Given the description of an element on the screen output the (x, y) to click on. 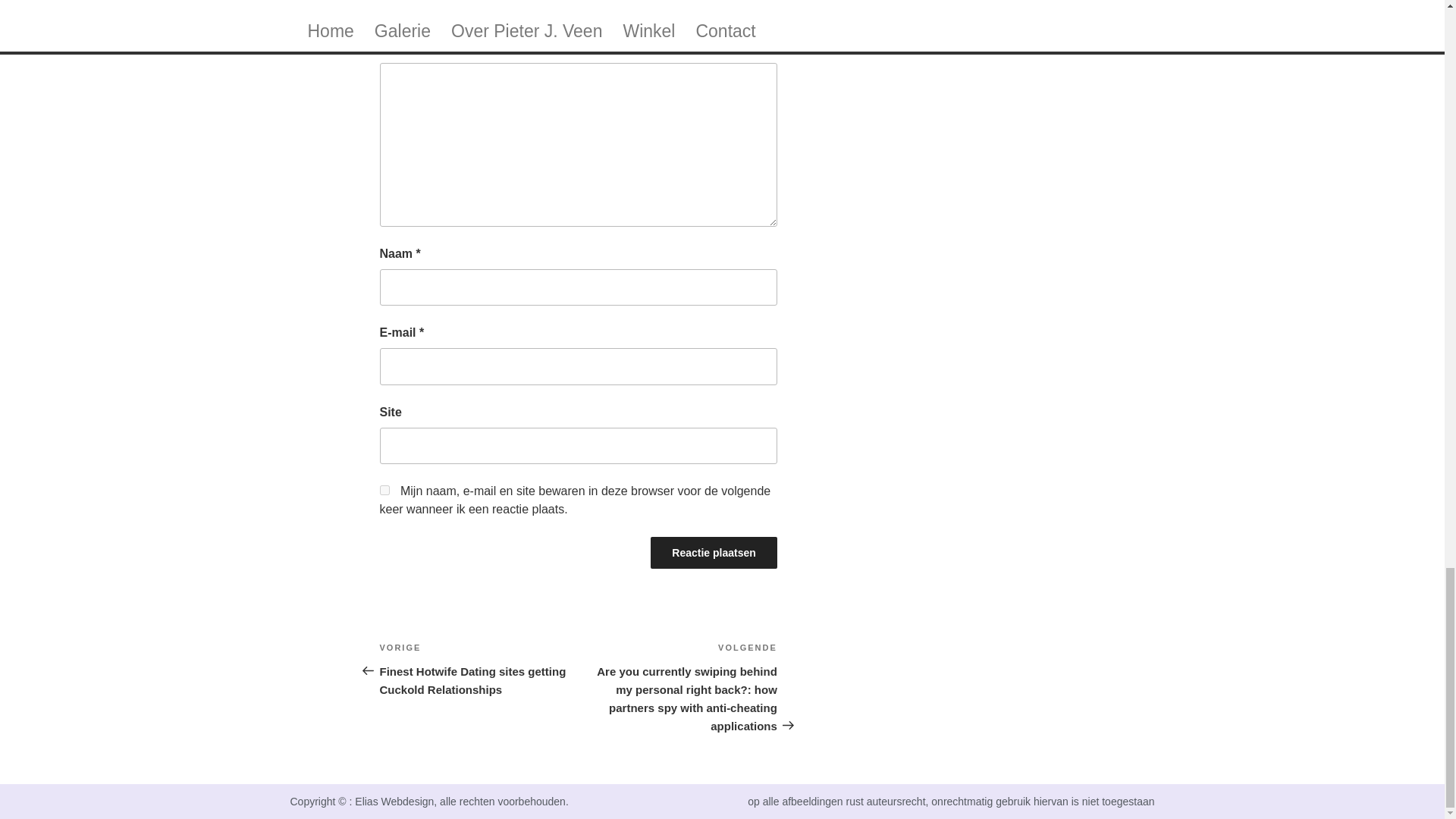
Reactie plaatsen (713, 552)
Elias Webdesign (394, 801)
yes (383, 490)
Reactie plaatsen (713, 552)
